Given the description of an element on the screen output the (x, y) to click on. 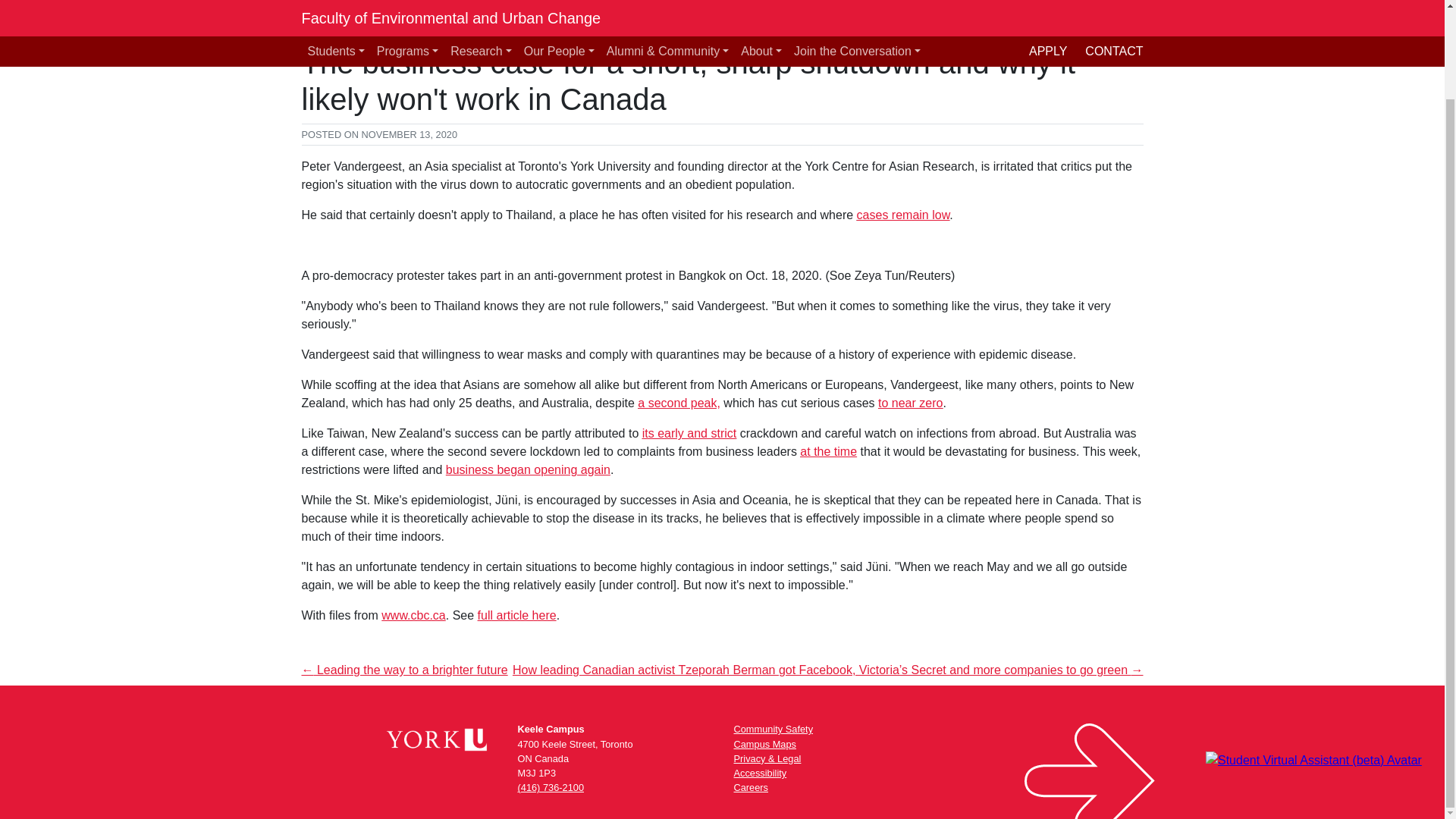
Research (481, 10)
Students (336, 10)
Programs (407, 10)
Our People (558, 10)
